Given the description of an element on the screen output the (x, y) to click on. 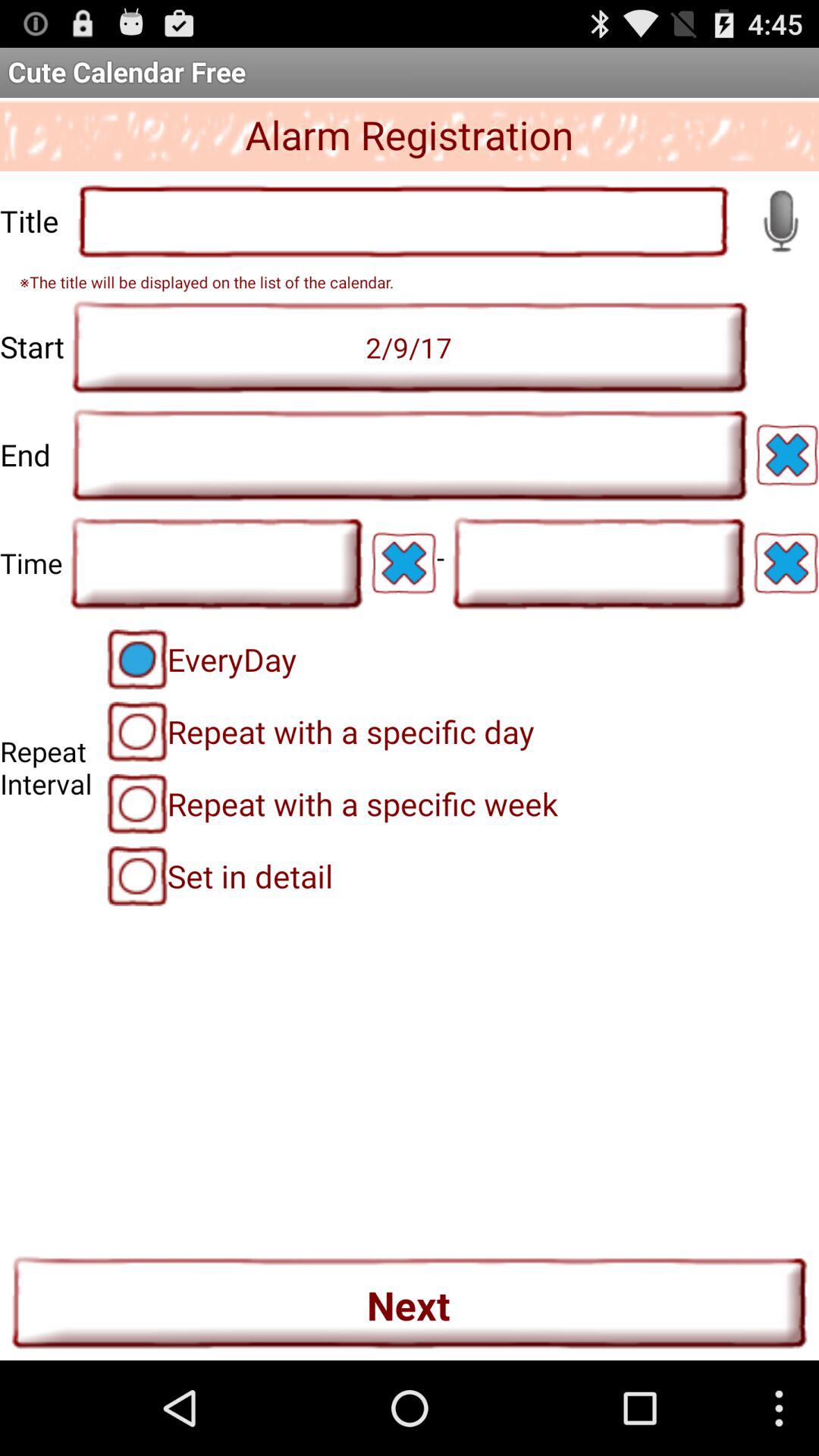
enter end time (409, 454)
